Given the description of an element on the screen output the (x, y) to click on. 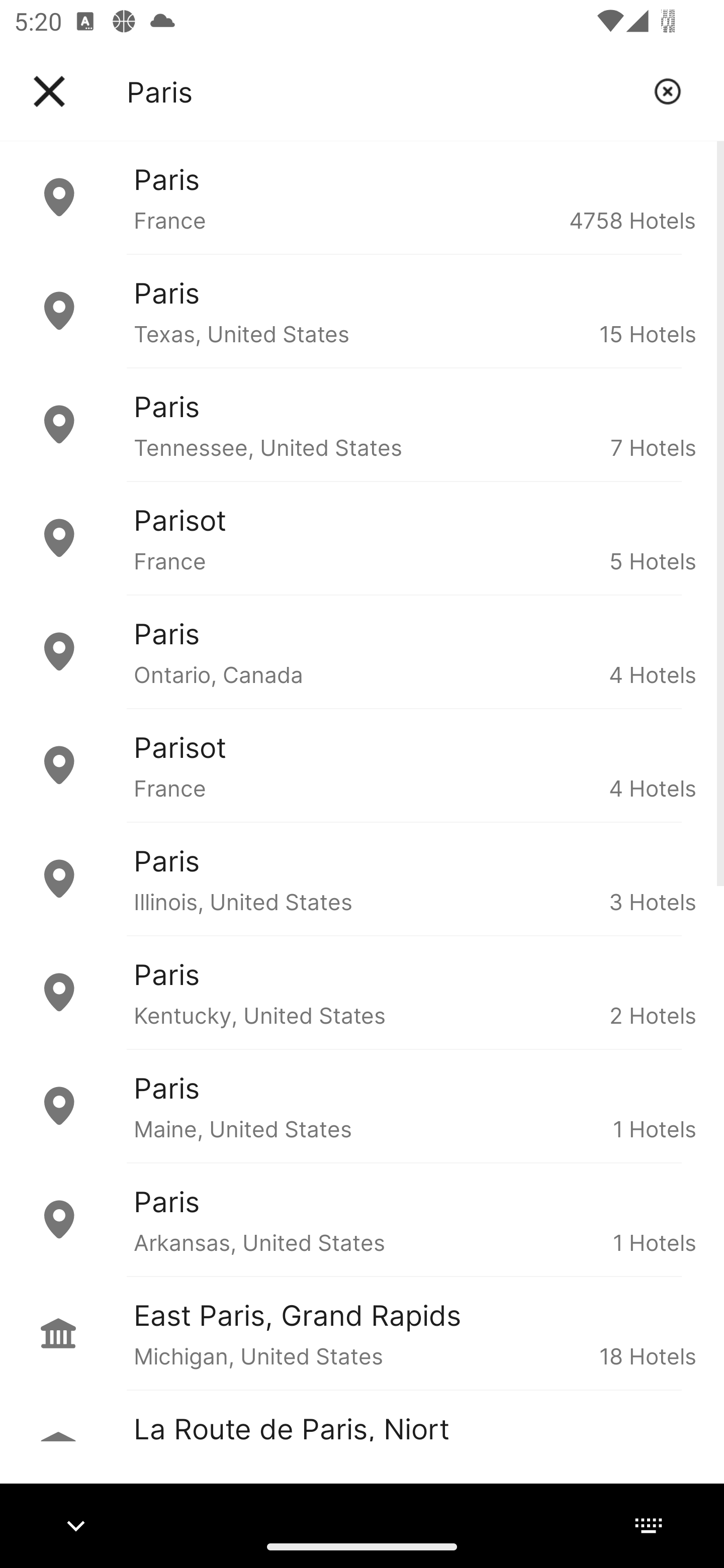
Paris (382, 91)
Paris France 4758 Hotels (362, 197)
Paris Texas, United States 15 Hotels (362, 310)
Paris Tennessee, United States 7 Hotels (362, 424)
Parisot France 5 Hotels (362, 537)
Paris Ontario, Canada 4 Hotels (362, 651)
Parisot France 4 Hotels (362, 764)
Paris Illinois, United States 3 Hotels (362, 878)
Paris Kentucky, United States 2 Hotels (362, 992)
Paris Maine, United States 1 Hotels (362, 1105)
Paris Arkansas, United States 1 Hotels (362, 1219)
